Given the description of an element on the screen output the (x, y) to click on. 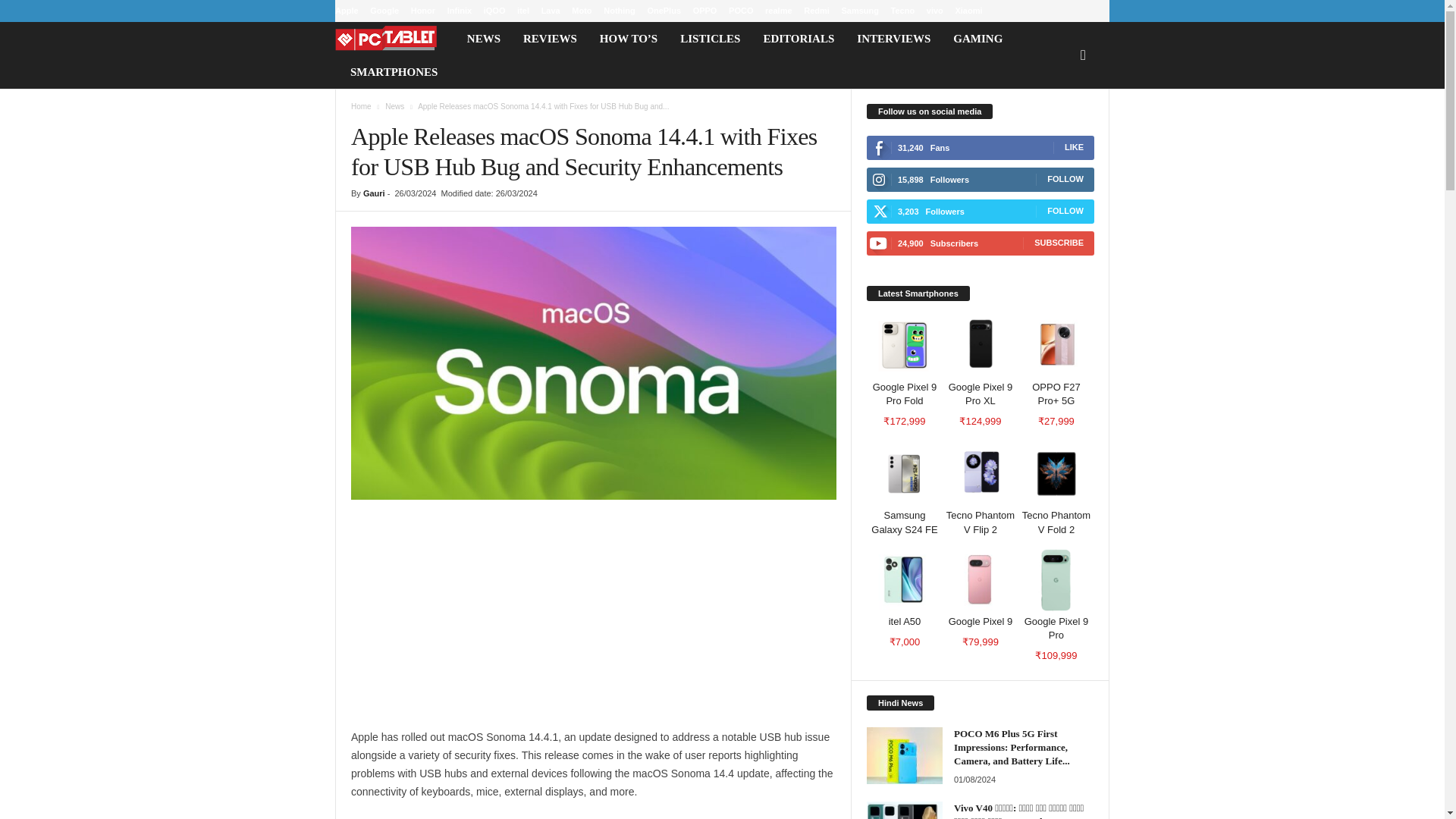
Xiaomi (968, 10)
Advertisement (592, 621)
Tecno (903, 10)
OnePlus (663, 10)
REVIEWS (550, 38)
LISTICLES (709, 38)
Honor (422, 10)
Moto (581, 10)
itel (522, 10)
